Given the description of an element on the screen output the (x, y) to click on. 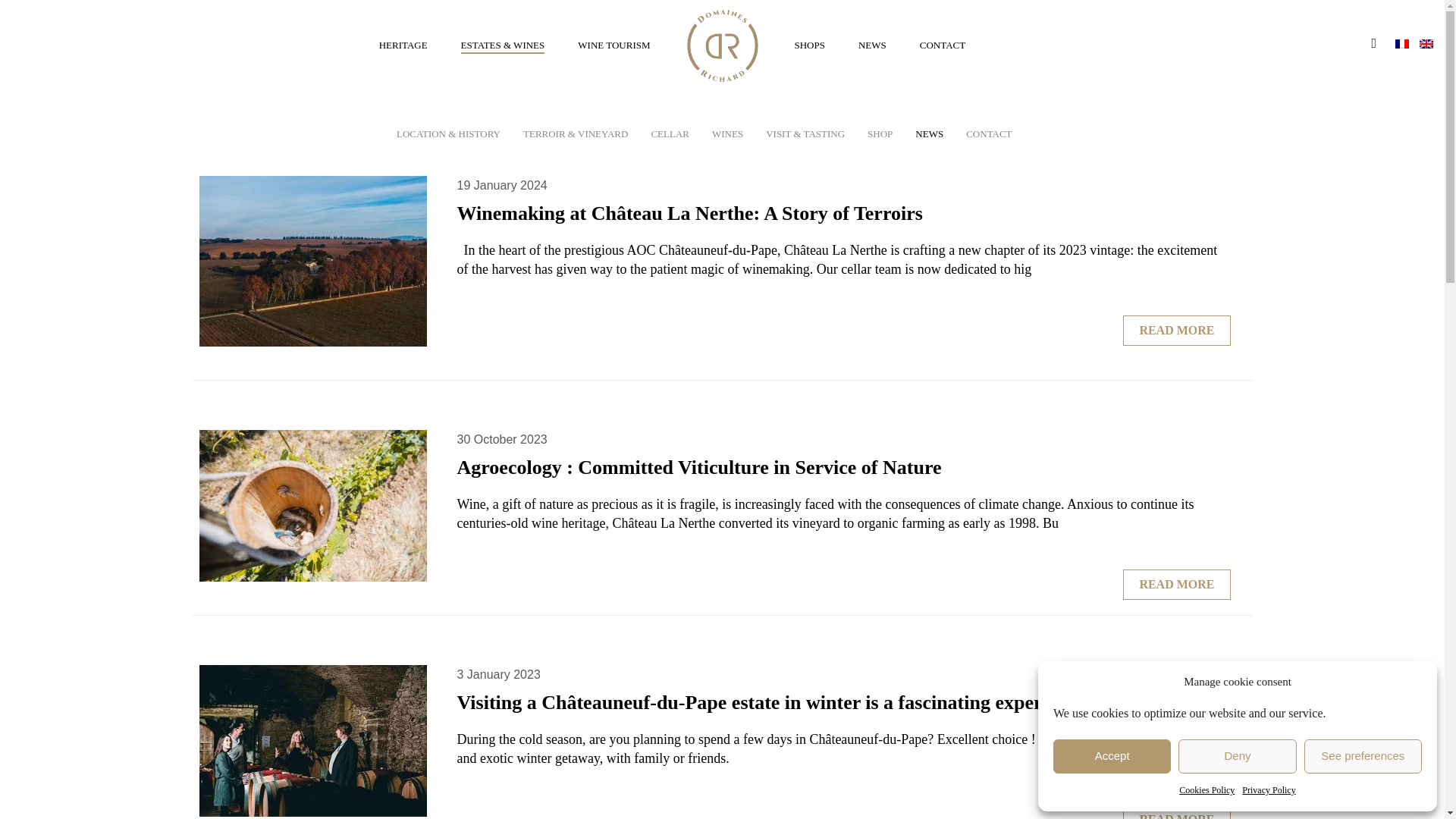
HERITAGE (403, 45)
Cookies Policy (1206, 790)
Accept (1111, 756)
Heritage (403, 45)
Privacy Policy (1268, 790)
See preferences (1363, 756)
Deny (1236, 756)
